Given the description of an element on the screen output the (x, y) to click on. 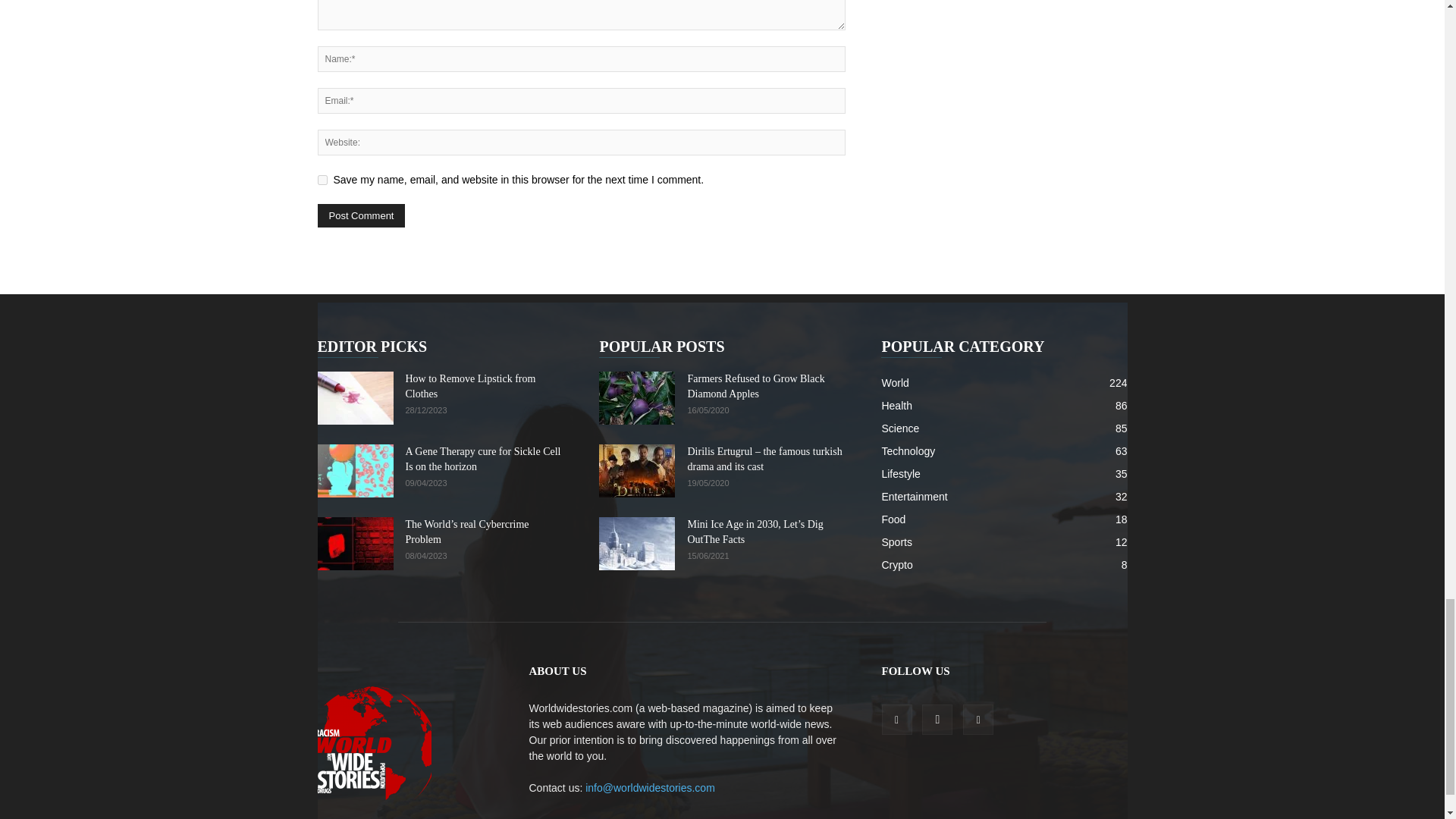
yes (321, 180)
Post Comment (360, 215)
